Given the description of an element on the screen output the (x, y) to click on. 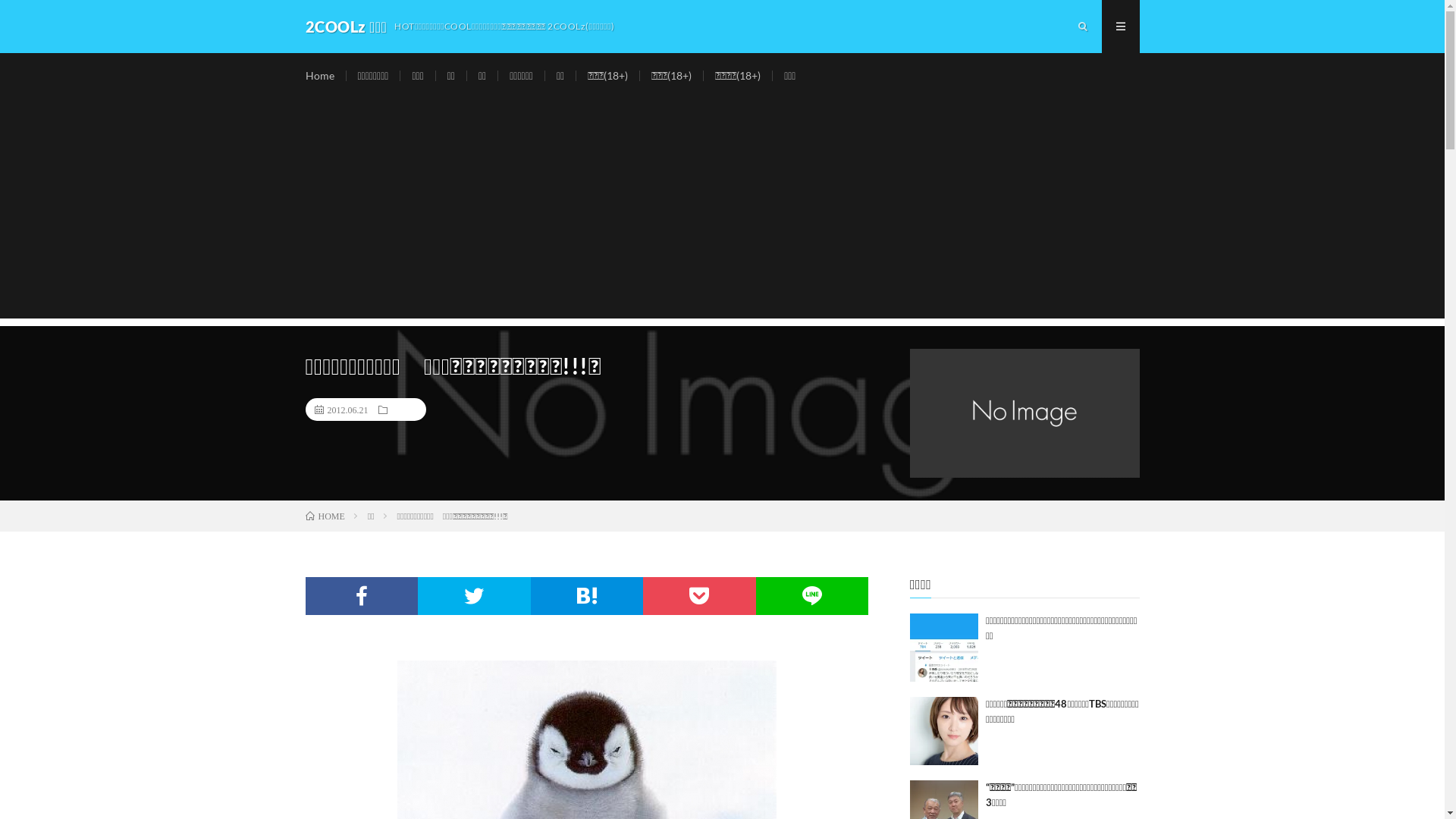
Advertisement Element type: hover (721, 212)
HOME Element type: text (324, 515)
Home Element type: text (318, 75)
